Given the description of an element on the screen output the (x, y) to click on. 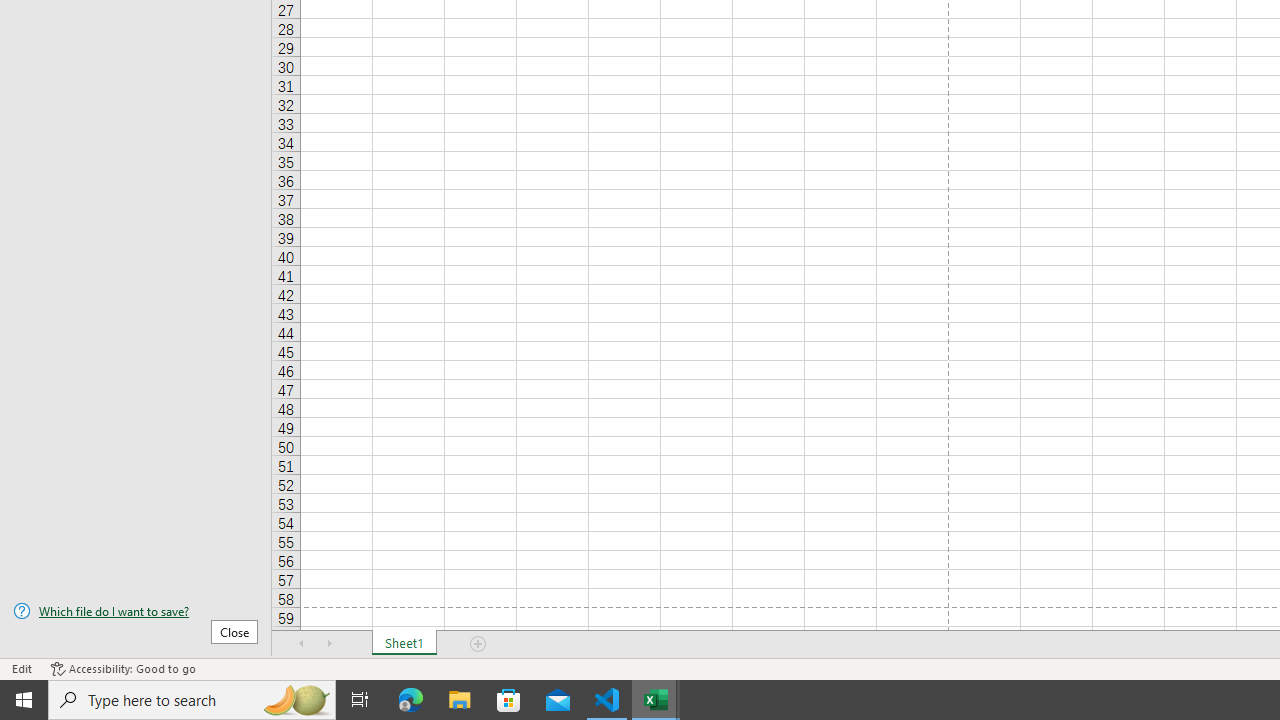
Which file do I want to save? (136, 611)
